Given the description of an element on the screen output the (x, y) to click on. 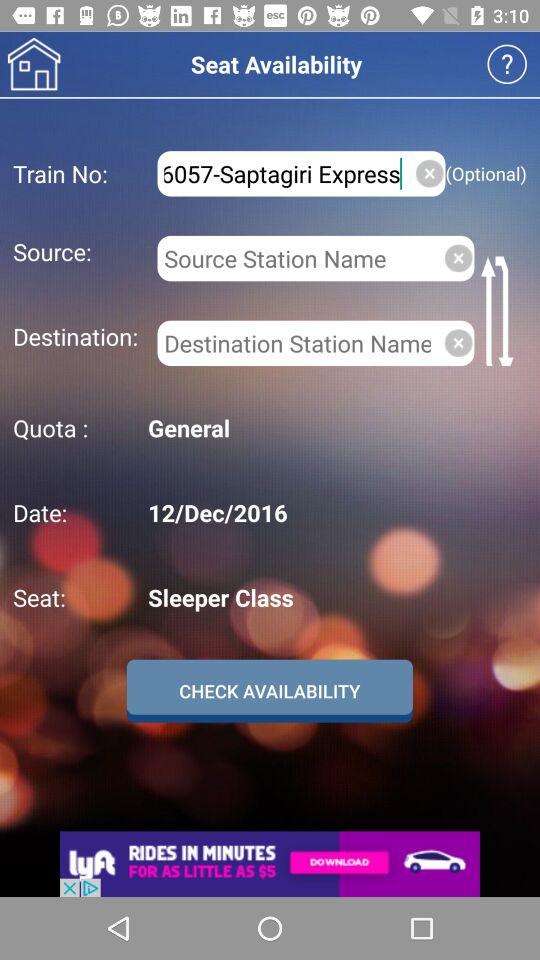
select icon below 12/dec/2016 icon (333, 597)
